Given the description of an element on the screen output the (x, y) to click on. 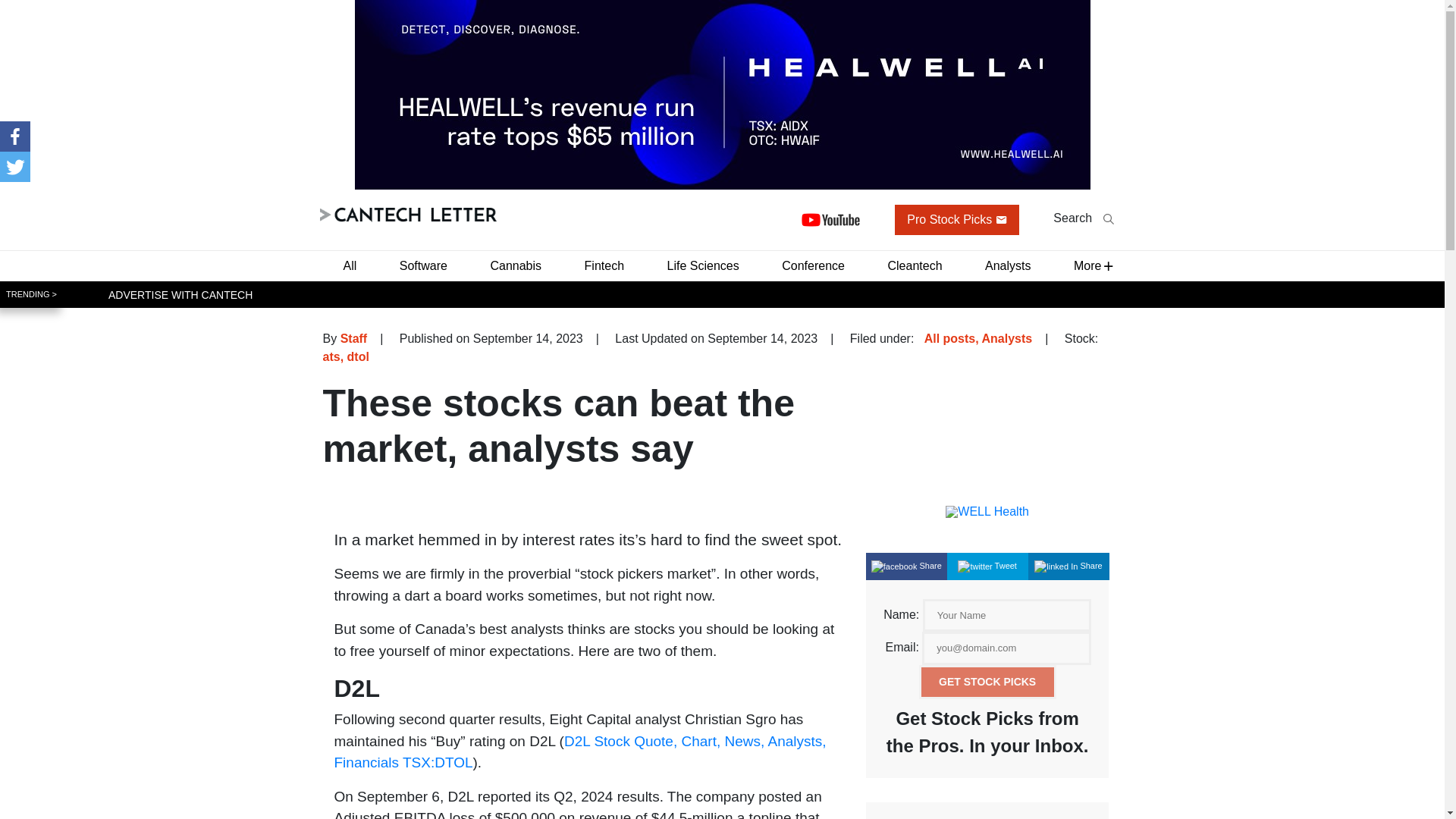
Analysts (1007, 265)
Cleantech (914, 265)
dtol (354, 356)
Fintech (604, 265)
More (1087, 265)
Conference (813, 265)
Pro Stock Picks (957, 219)
All (349, 265)
Software (423, 265)
D2L Stock Quote, Chart, News, Analysts, Financials TSX:DTOL (581, 752)
